Given the description of an element on the screen output the (x, y) to click on. 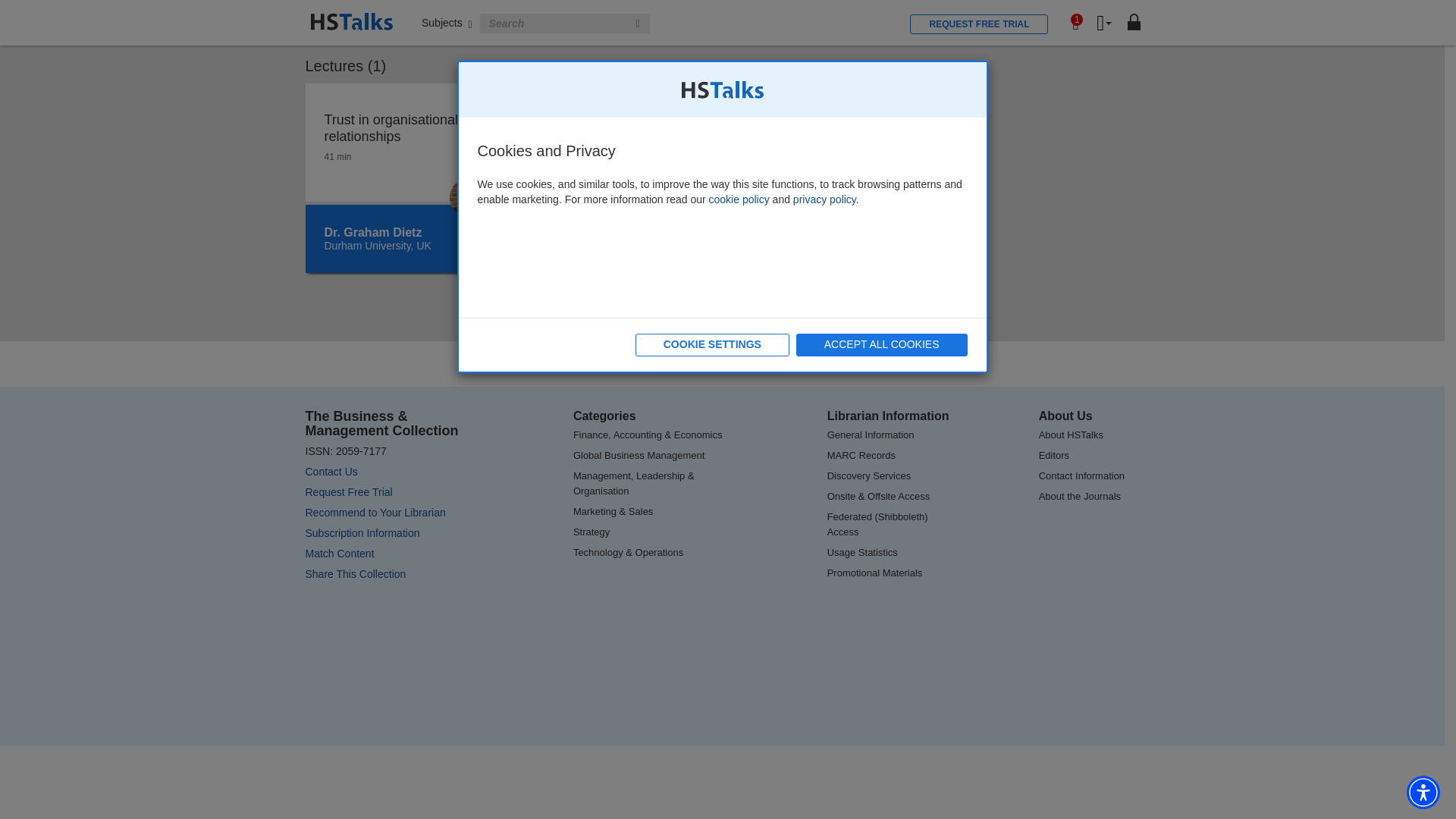
Accessibility Menu (1422, 548)
Subscription Information (361, 532)
Trust in organisational relationships (405, 127)
Recommend to Your Librarian (374, 512)
Share This Collection (355, 573)
read more (401, 2)
Request Free Trial (347, 491)
Contact Us (330, 471)
Match Content (339, 553)
Durham University, UK (377, 245)
